Given the description of an element on the screen output the (x, y) to click on. 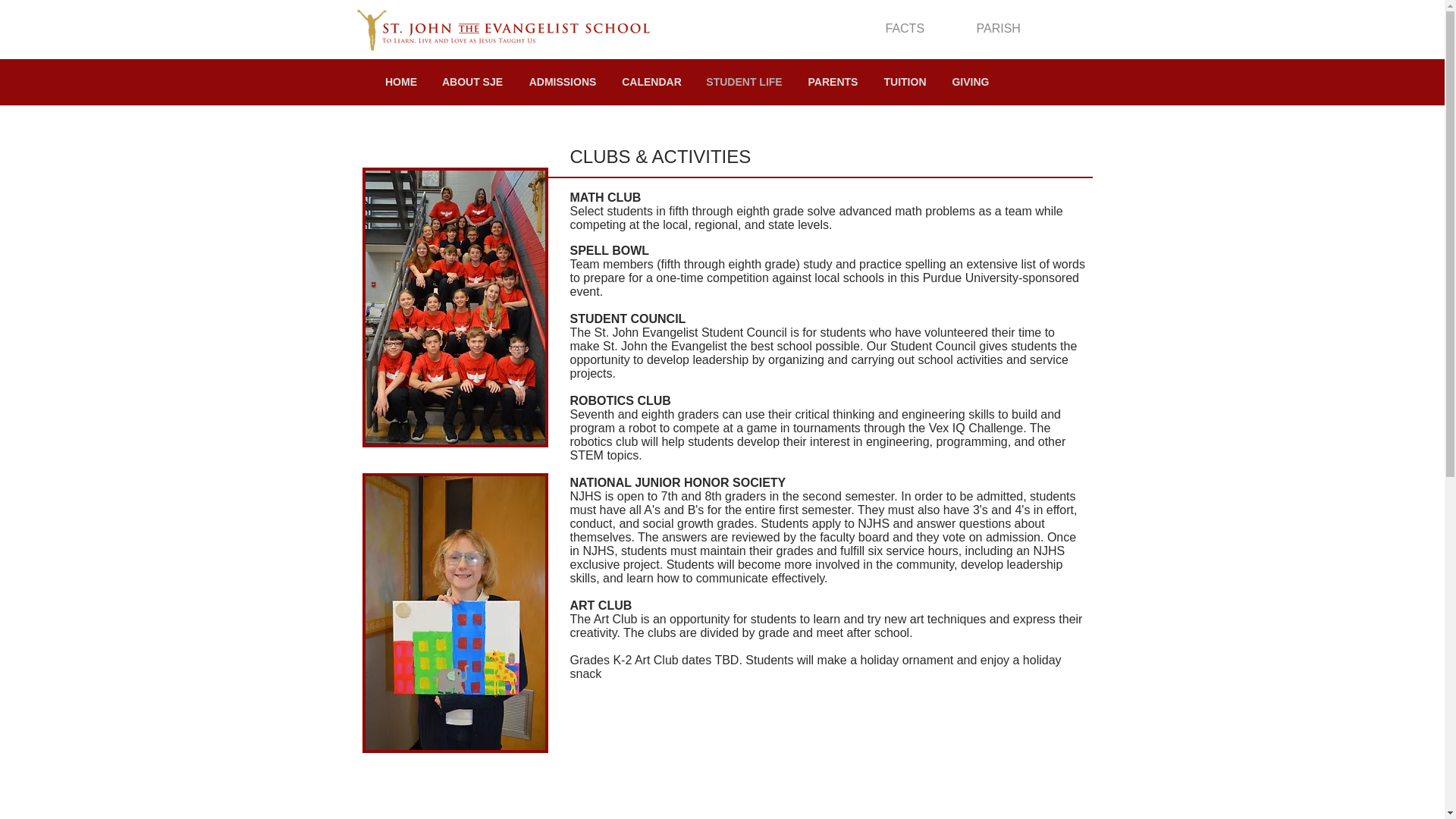
TUITION (904, 81)
PARENTS (832, 81)
HOME (400, 81)
ADMISSIONS (562, 81)
FACTS (904, 28)
CALENDAR (651, 81)
PARISH (998, 28)
STUDENT LIFE (743, 81)
ABOUT SJE (472, 81)
